Given the description of an element on the screen output the (x, y) to click on. 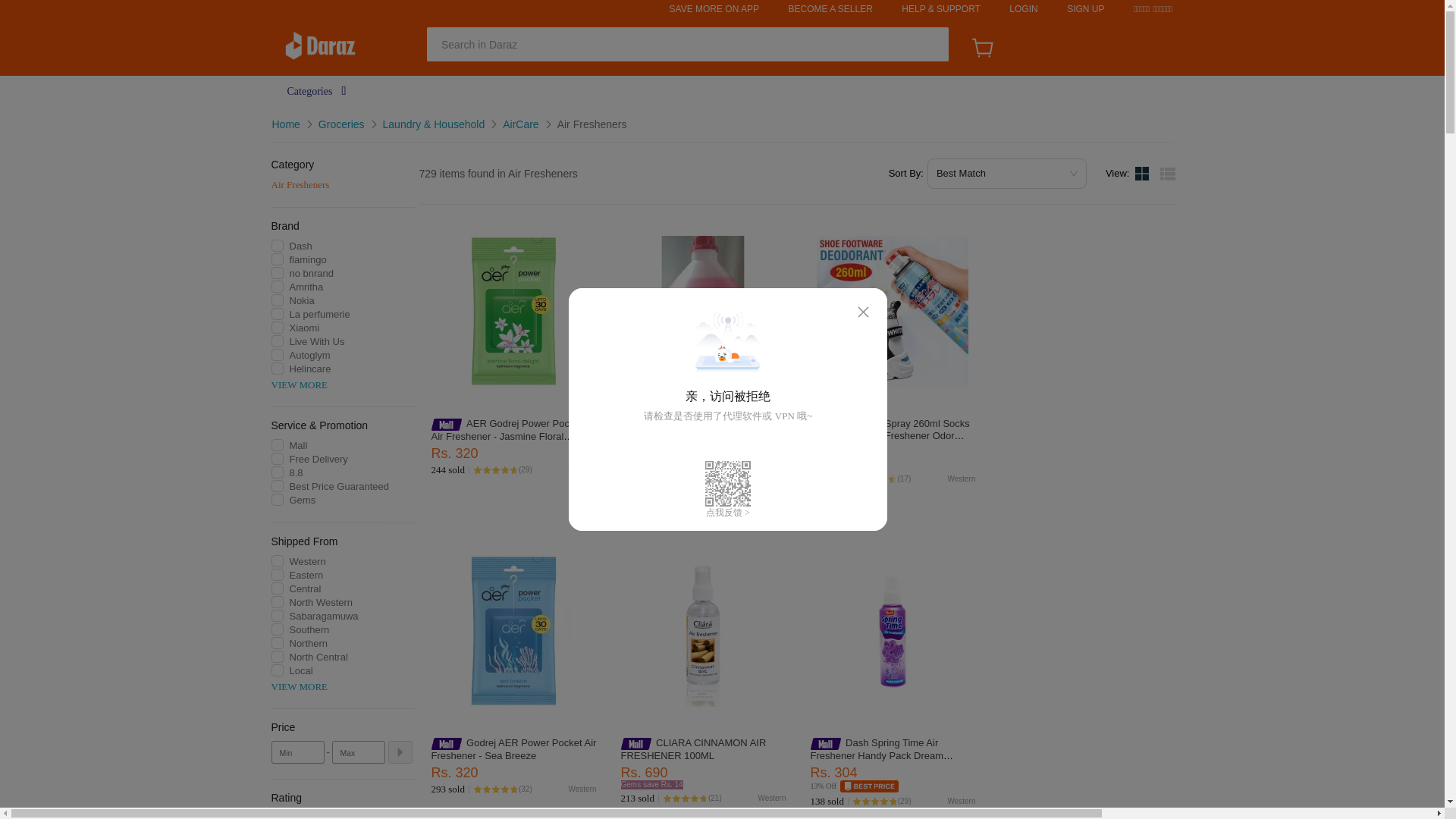
Dash Spring Time Air Freshener Handy Pack Dream Flower 150Ml (876, 755)
CLIARA CINNAMON AIR FRESHENER 100ML (692, 749)
BECOME A SELLER (829, 9)
Dash Spring Time Air Freshener Handy Pack Dream Flower 150Ml (876, 755)
Air Freshener 4L Super King Rose (695, 423)
Godrej AER Power Pocket Air Freshener - Sea Breeze (512, 749)
North Western (761, 478)
CLIARA CINNAMON AIR FRESHENER 100ML (692, 749)
